Given the description of an element on the screen output the (x, y) to click on. 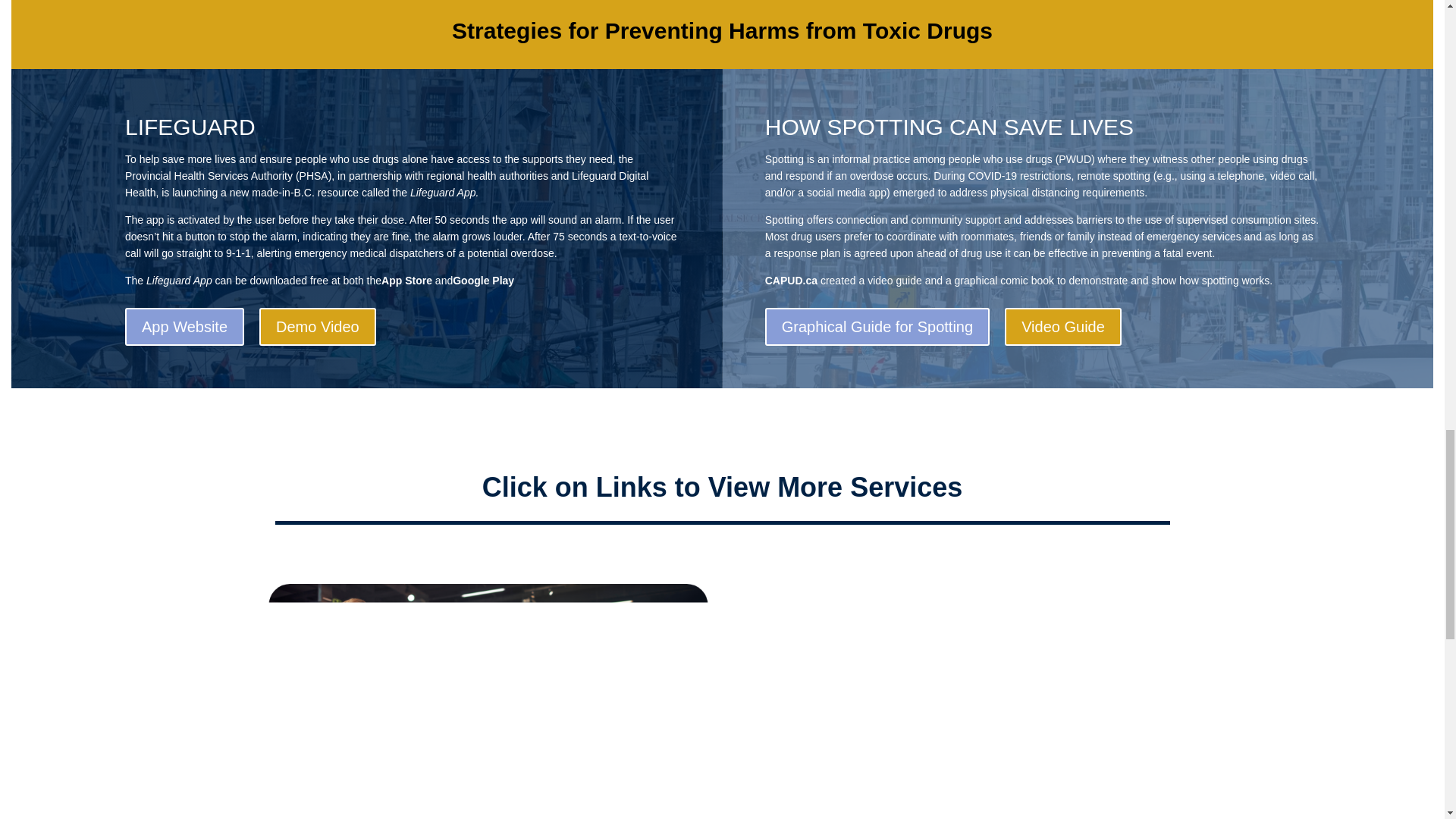
Google Play (482, 284)
App Store (406, 284)
App Website (184, 326)
Demo Video (317, 326)
Graphical Guide for Spotting (877, 326)
